Given the description of an element on the screen output the (x, y) to click on. 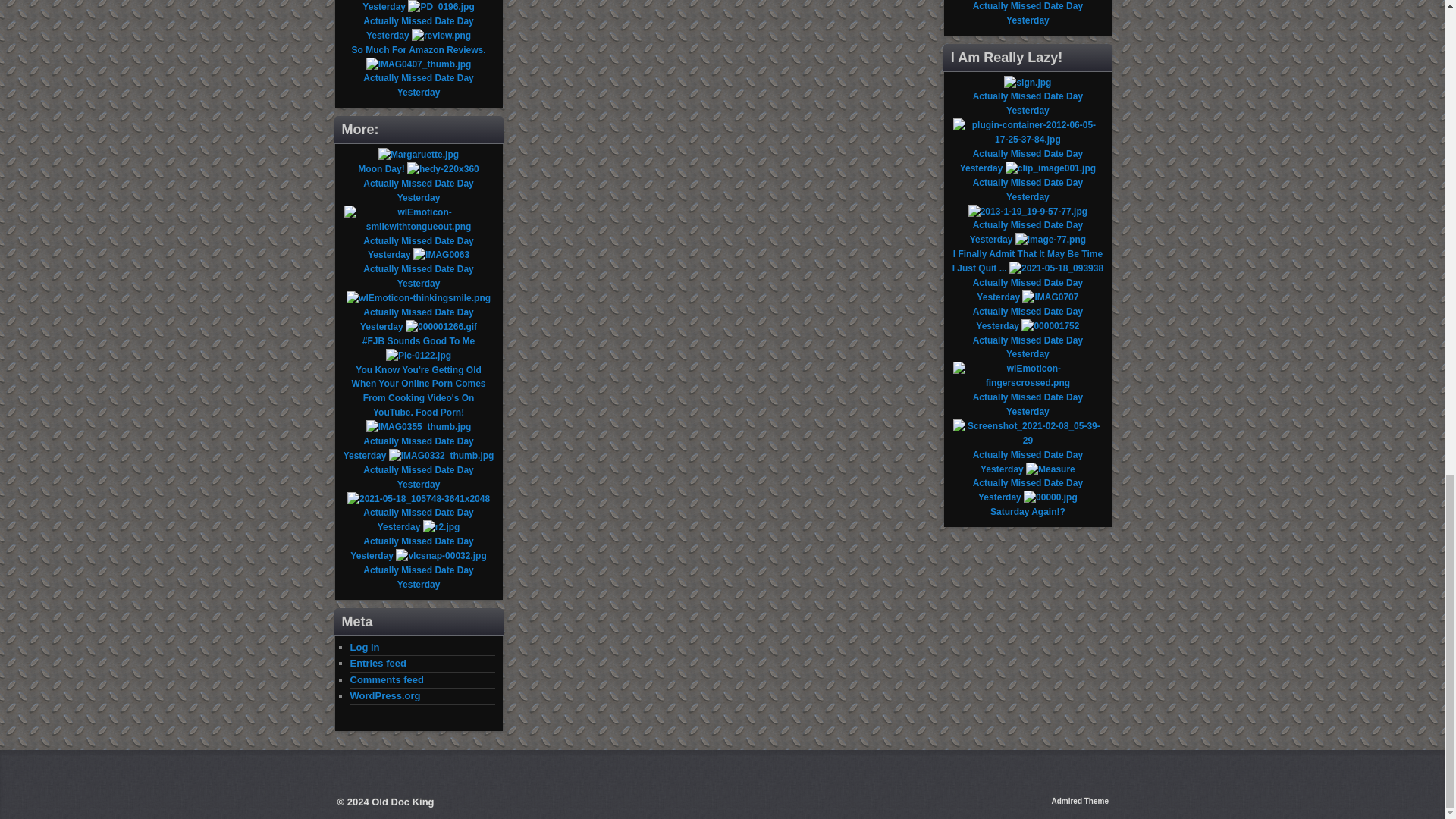
So Much For Amazon Reviews. (419, 50)
Actually Missed Date Day Yesterday (417, 27)
Actually Missed Date Day Yesterday (417, 6)
